Given the description of an element on the screen output the (x, y) to click on. 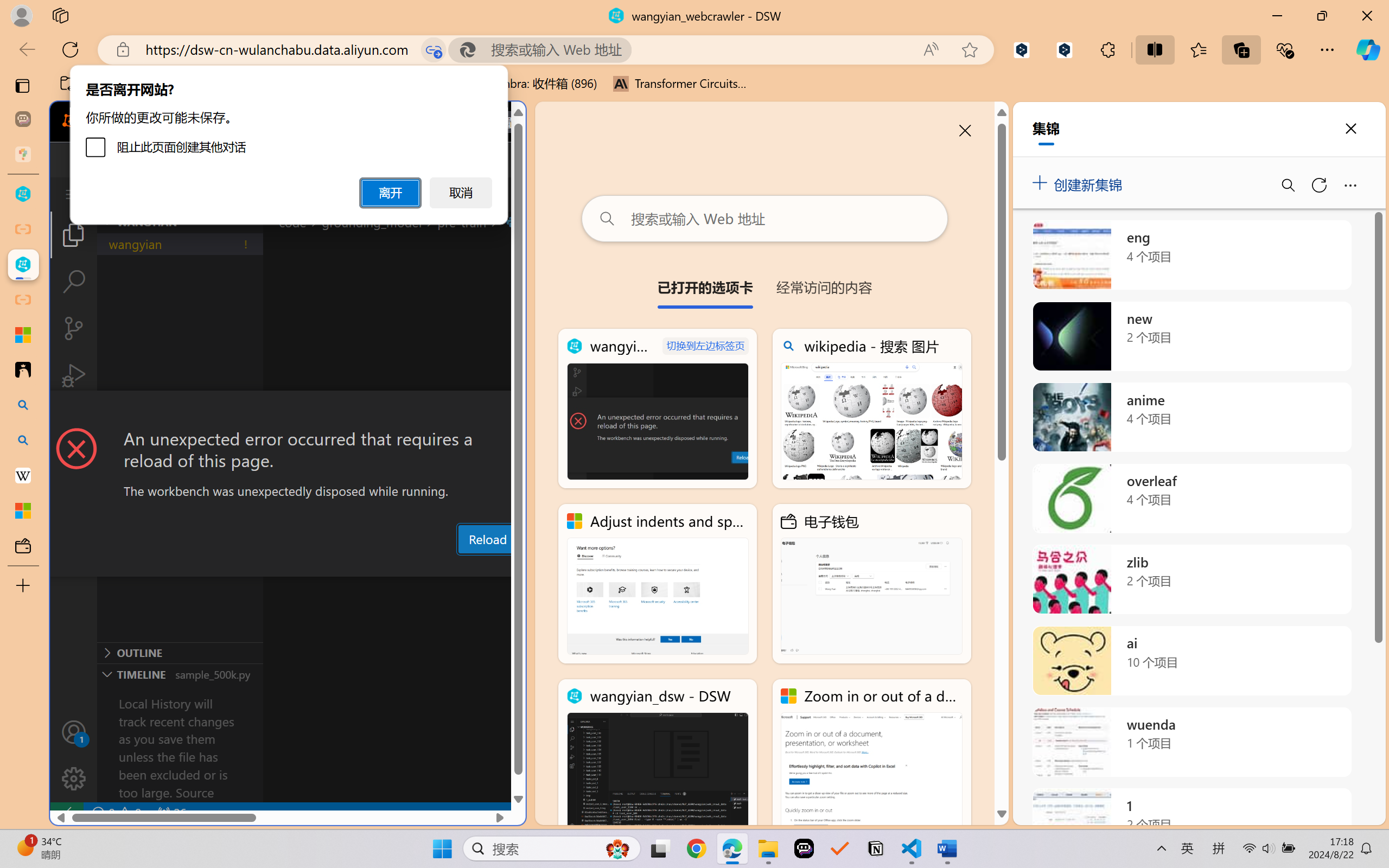
Terminal (Ctrl+`) (553, 565)
Output (Ctrl+Shift+U) (377, 565)
wangyian_dsw - DSW (657, 758)
Earth - Wikipedia (22, 475)
Problems (Ctrl+Shift+M) (308, 565)
